Given the description of an element on the screen output the (x, y) to click on. 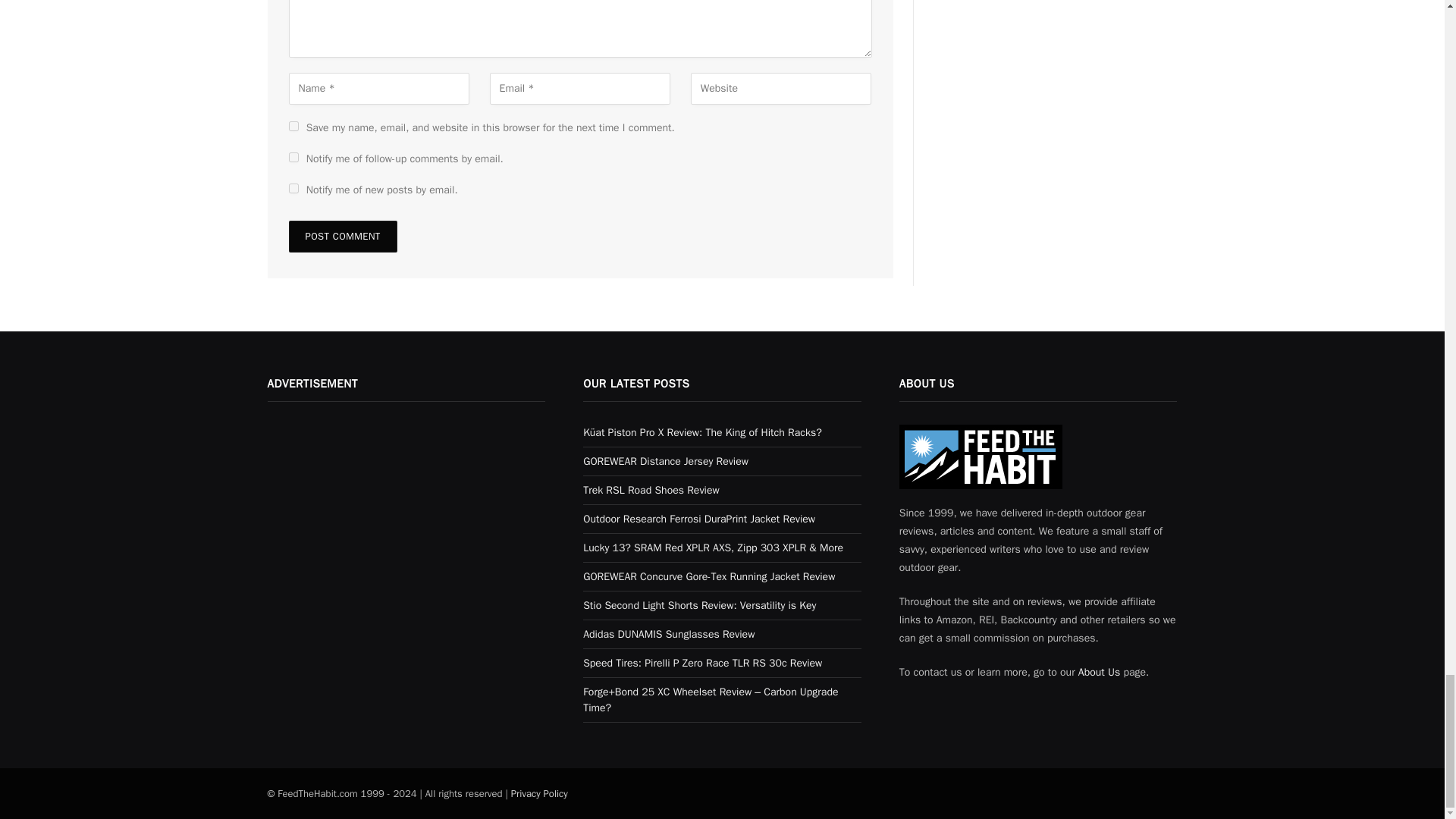
yes (293, 126)
Post Comment (342, 236)
subscribe (293, 157)
subscribe (293, 188)
